Given the description of an element on the screen output the (x, y) to click on. 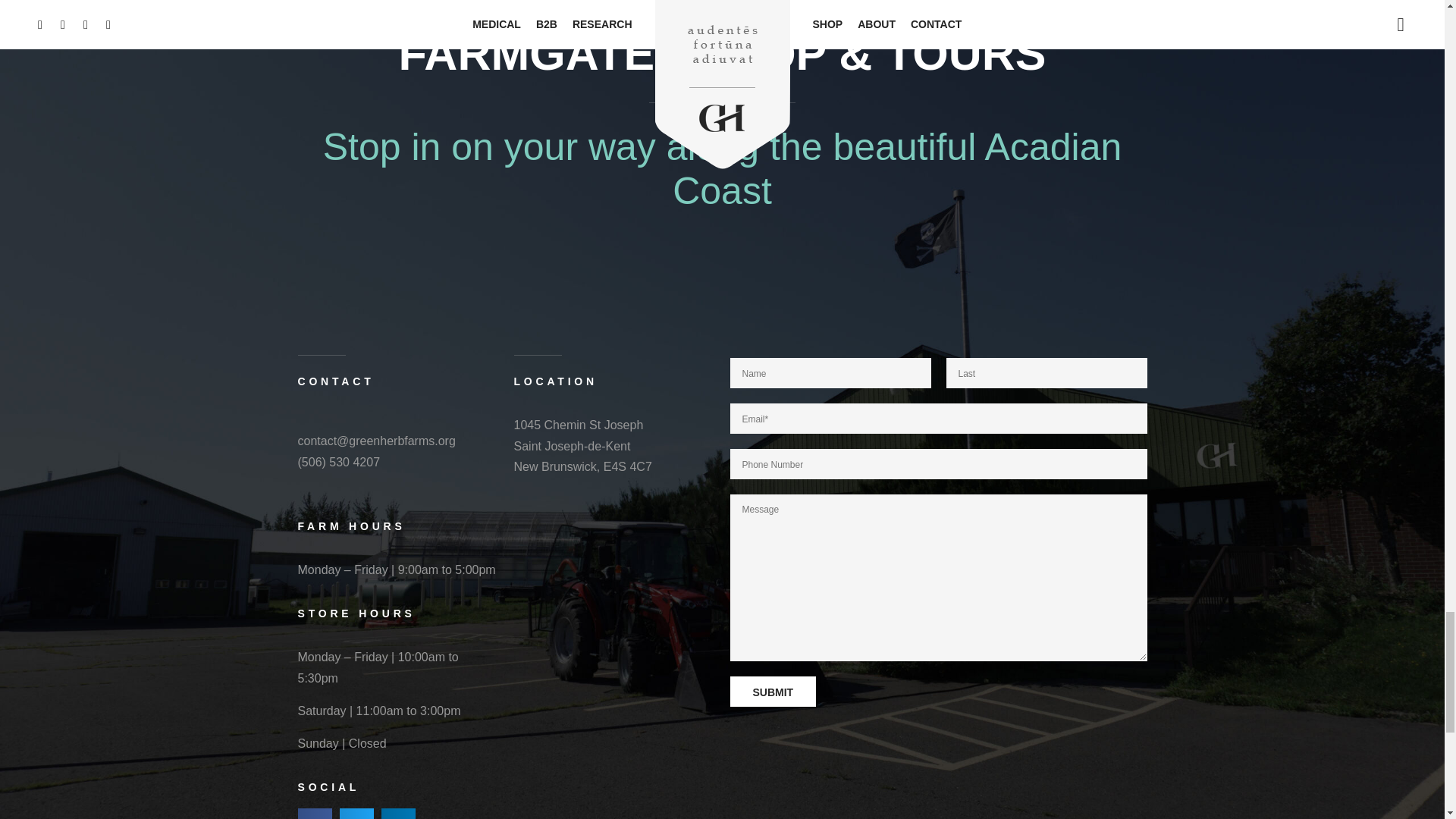
SUBMIT (772, 691)
